Given the description of an element on the screen output the (x, y) to click on. 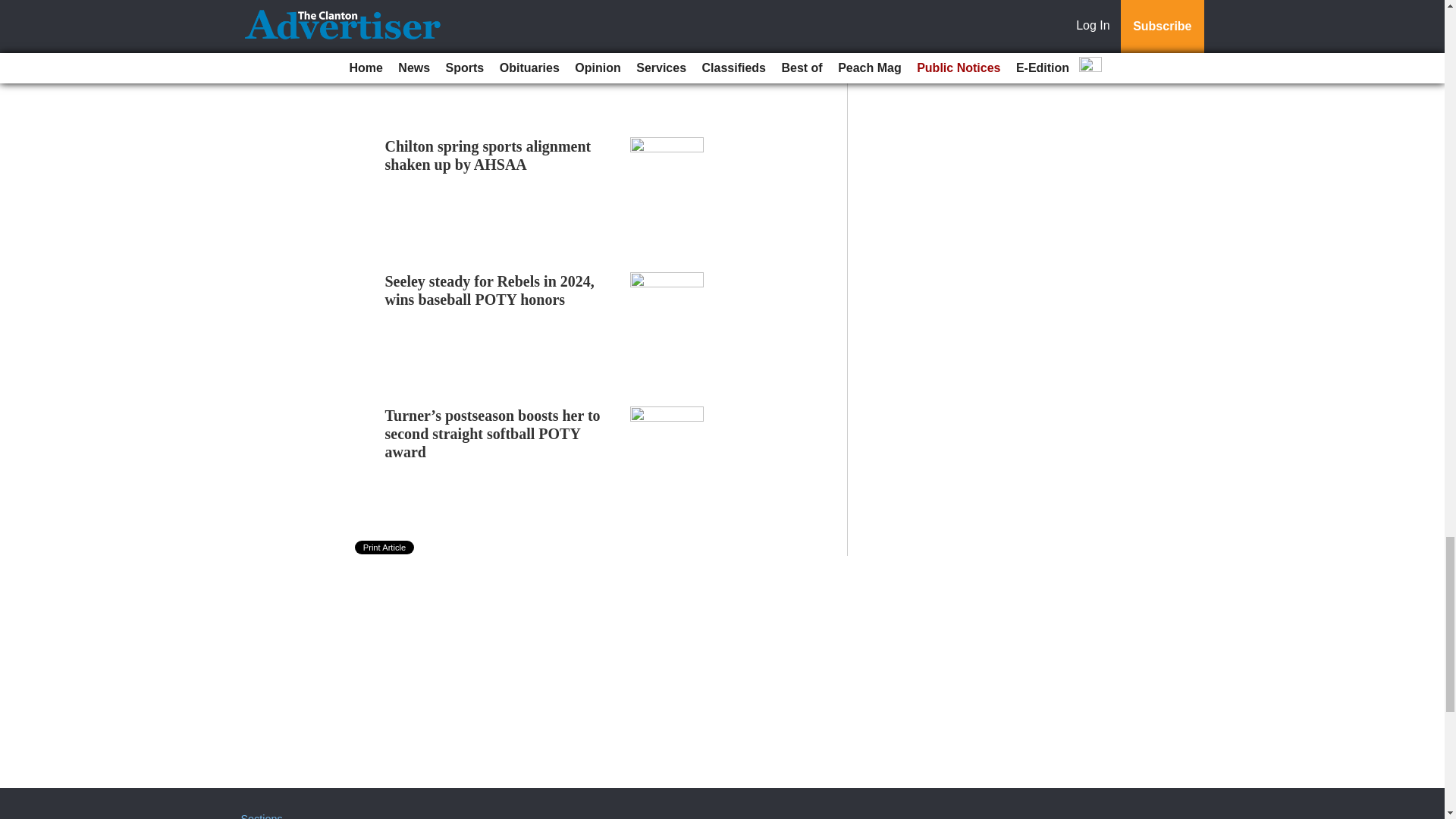
Print Article (384, 547)
Chilton spring sports alignment shaken up by AHSAA (488, 155)
Seeley steady for Rebels in 2024, wins baseball POTY honors (489, 289)
Chilton spring sports alignment shaken up by AHSAA (488, 155)
Seeley steady for Rebels in 2024, wins baseball POTY honors (489, 289)
